Given the description of an element on the screen output the (x, y) to click on. 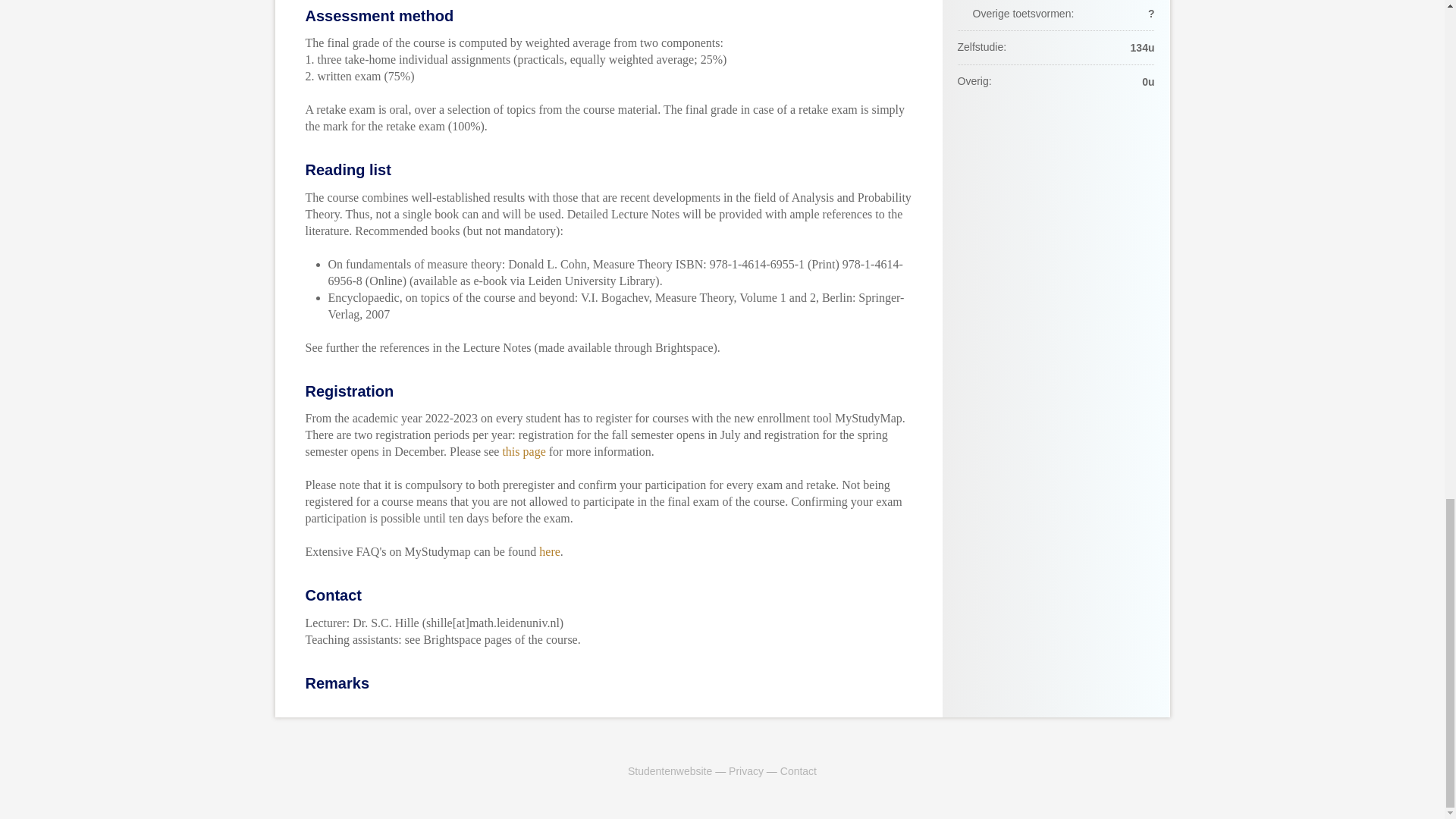
Contact (798, 770)
Privacy (745, 770)
here (549, 551)
this page (523, 451)
Studentenwebsite (669, 770)
